Given the description of an element on the screen output the (x, y) to click on. 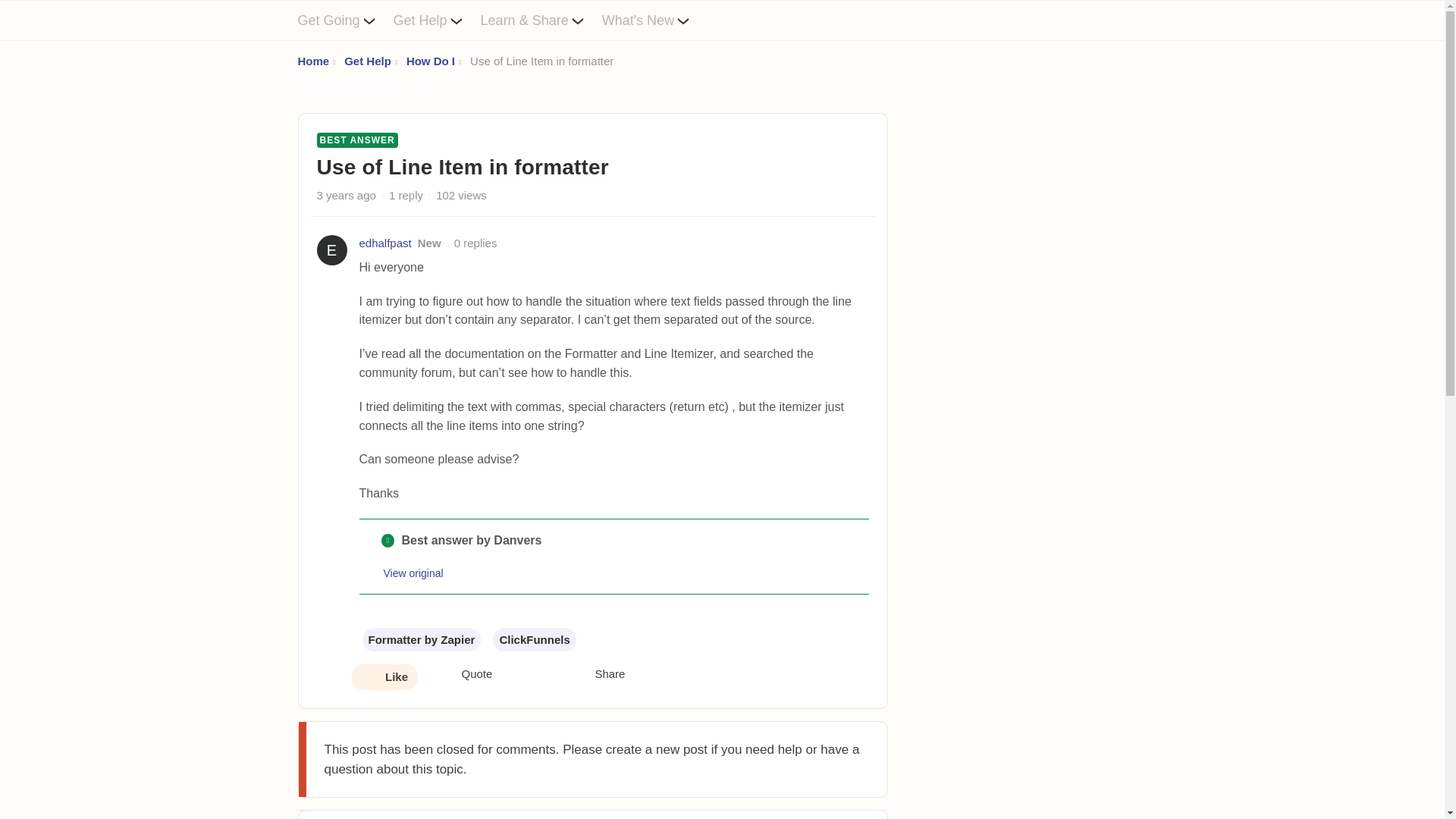
edhalfpast (385, 243)
1 reply (405, 195)
E (332, 250)
Home (313, 61)
Quote (464, 675)
What's New (654, 20)
Formatter by Zapier (421, 639)
Like (383, 678)
Get Going (345, 20)
ClickFunnels (534, 639)
Get Help (367, 61)
Get Help (436, 20)
View original (414, 573)
How Do I (430, 61)
edhalfpast (385, 243)
